Given the description of an element on the screen output the (x, y) to click on. 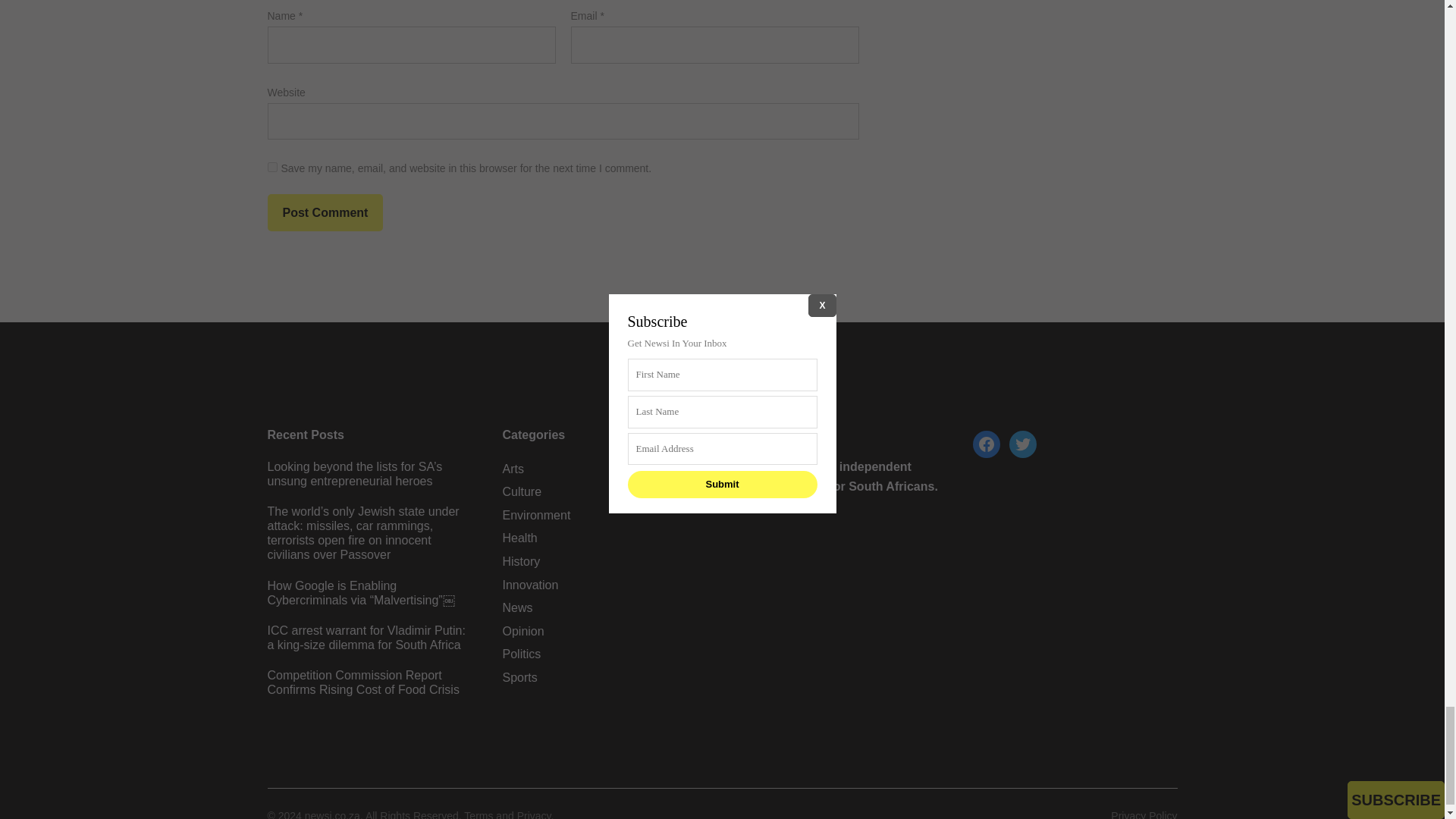
Post Comment (324, 212)
Post Comment (324, 212)
yes (271, 166)
